Given the description of an element on the screen output the (x, y) to click on. 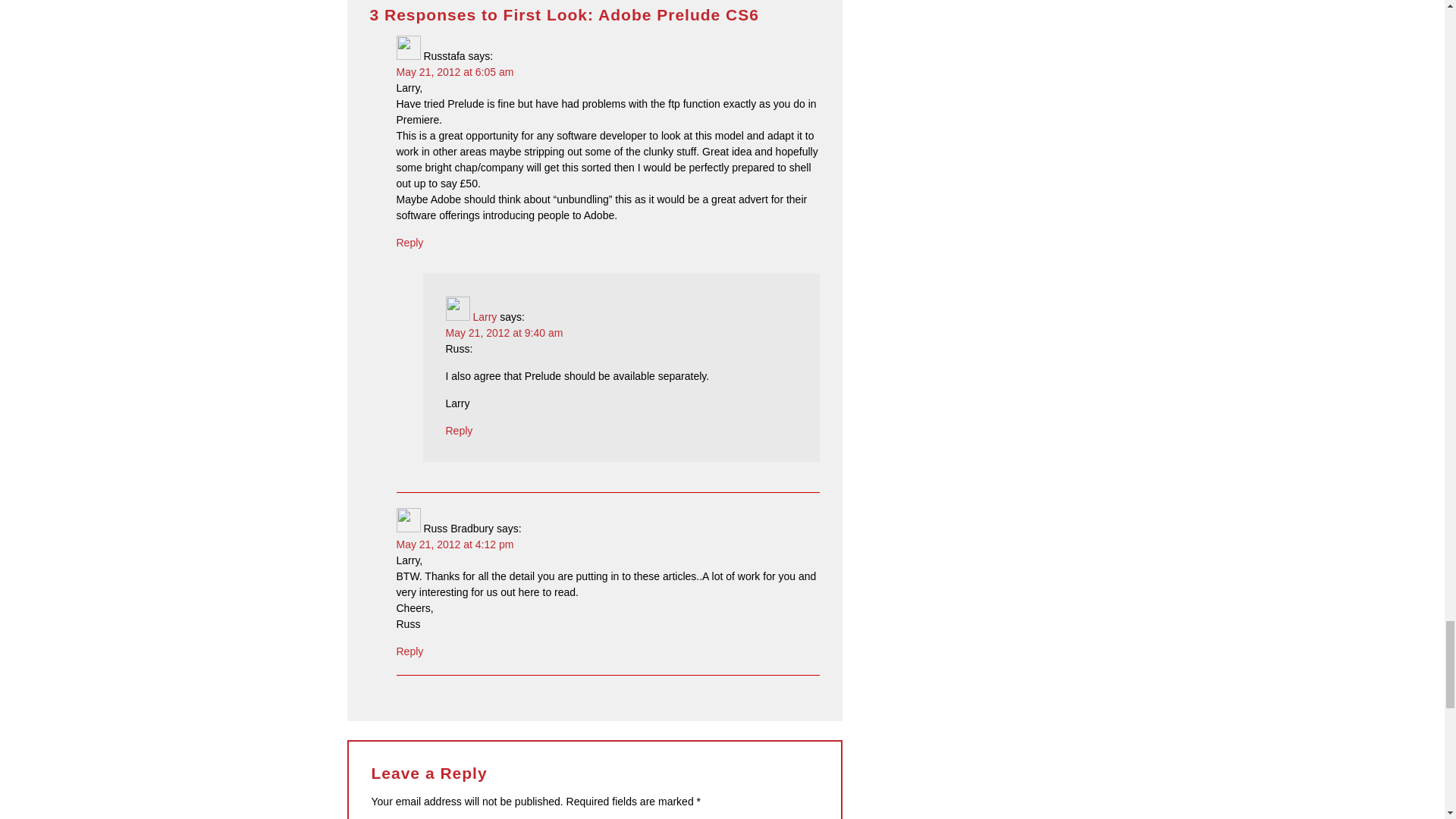
Reply (409, 651)
May 21, 2012 at 9:40 am (504, 332)
May 21, 2012 at 4:12 pm (454, 544)
Reply (409, 242)
May 21, 2012 at 6:05 am (454, 71)
Larry (483, 316)
Reply (459, 430)
